Given the description of an element on the screen output the (x, y) to click on. 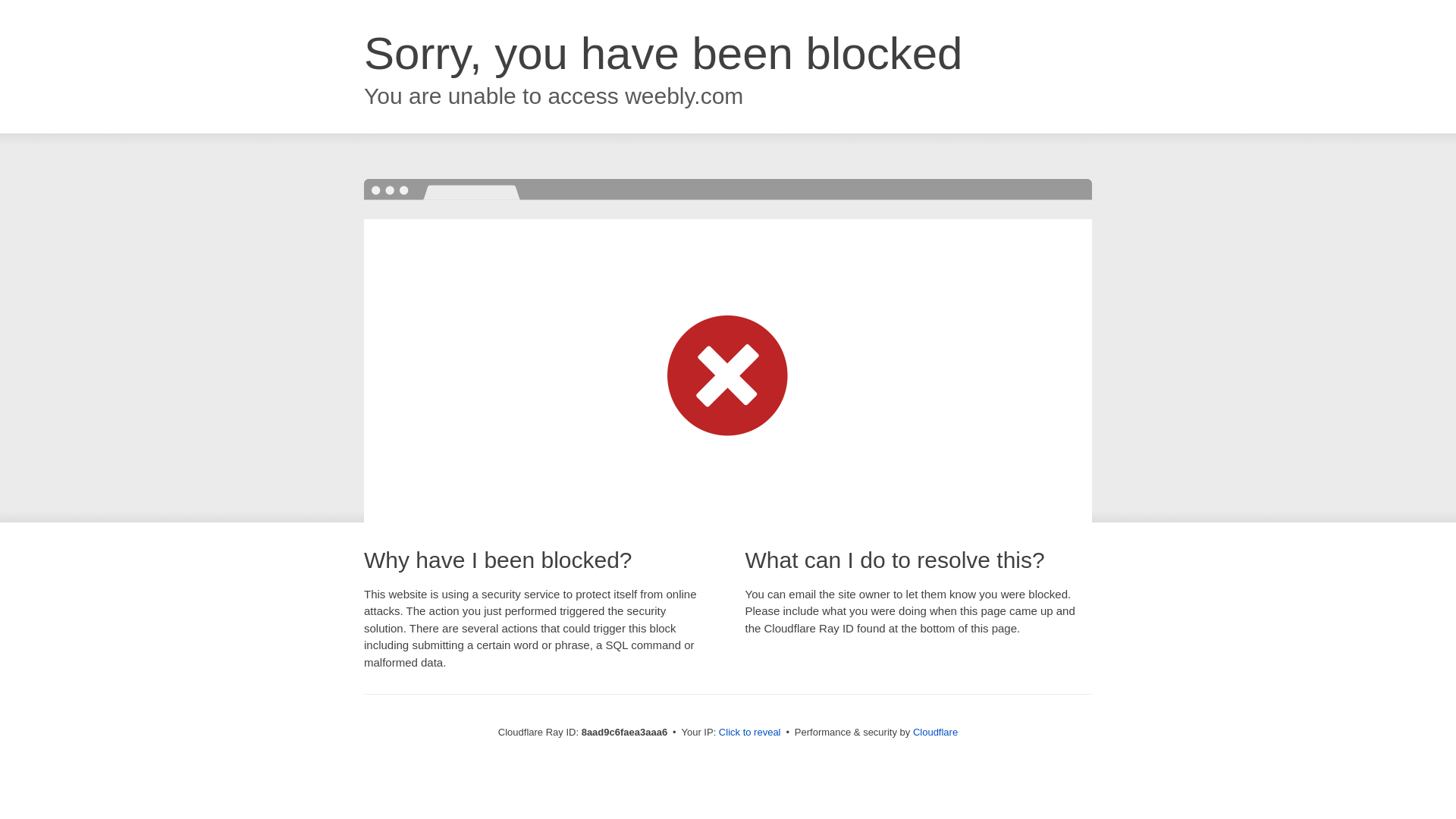
Click to reveal (749, 732)
Cloudflare (935, 731)
